Given the description of an element on the screen output the (x, y) to click on. 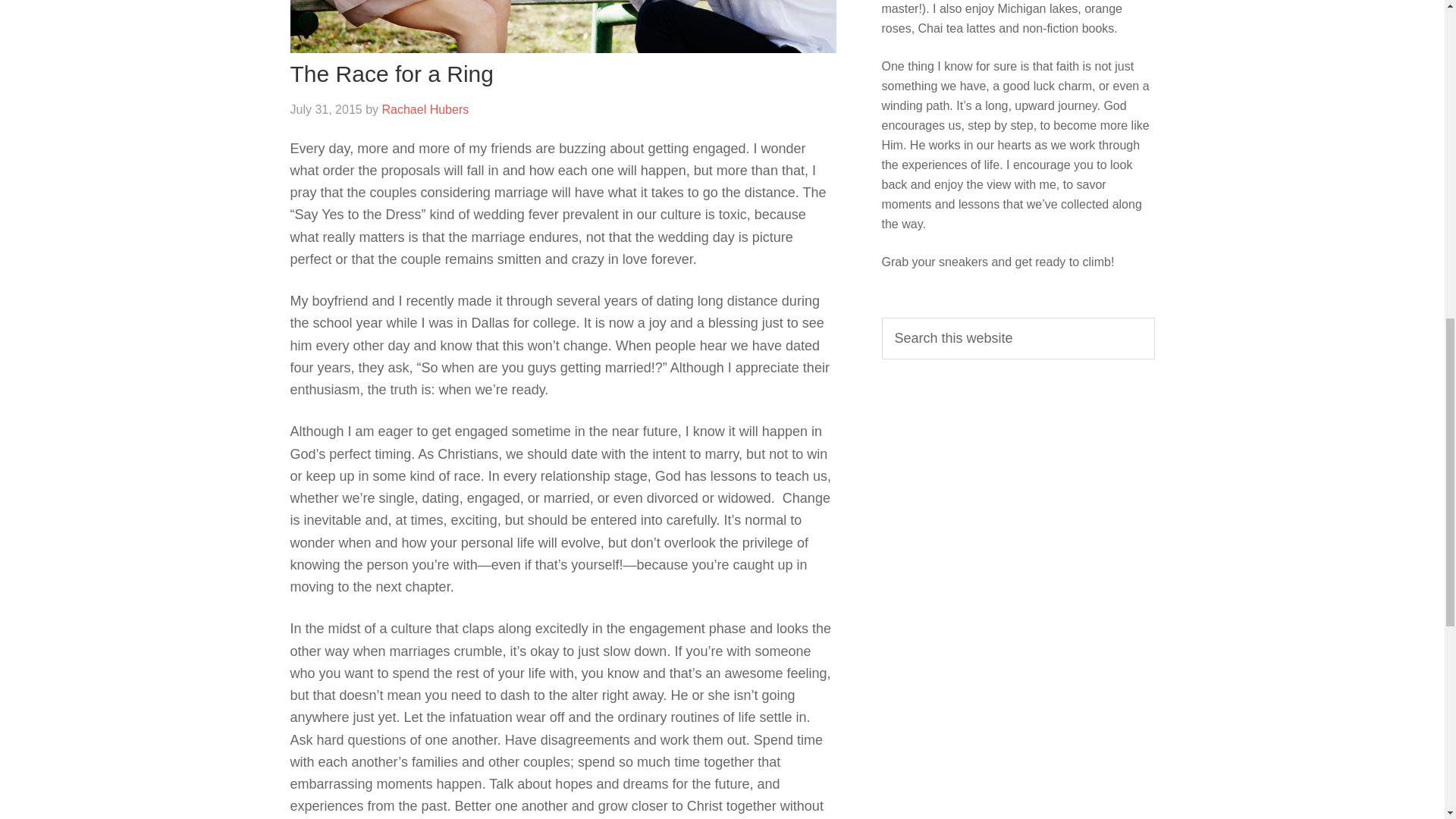
Rachael Hubers (424, 109)
